Given the description of an element on the screen output the (x, y) to click on. 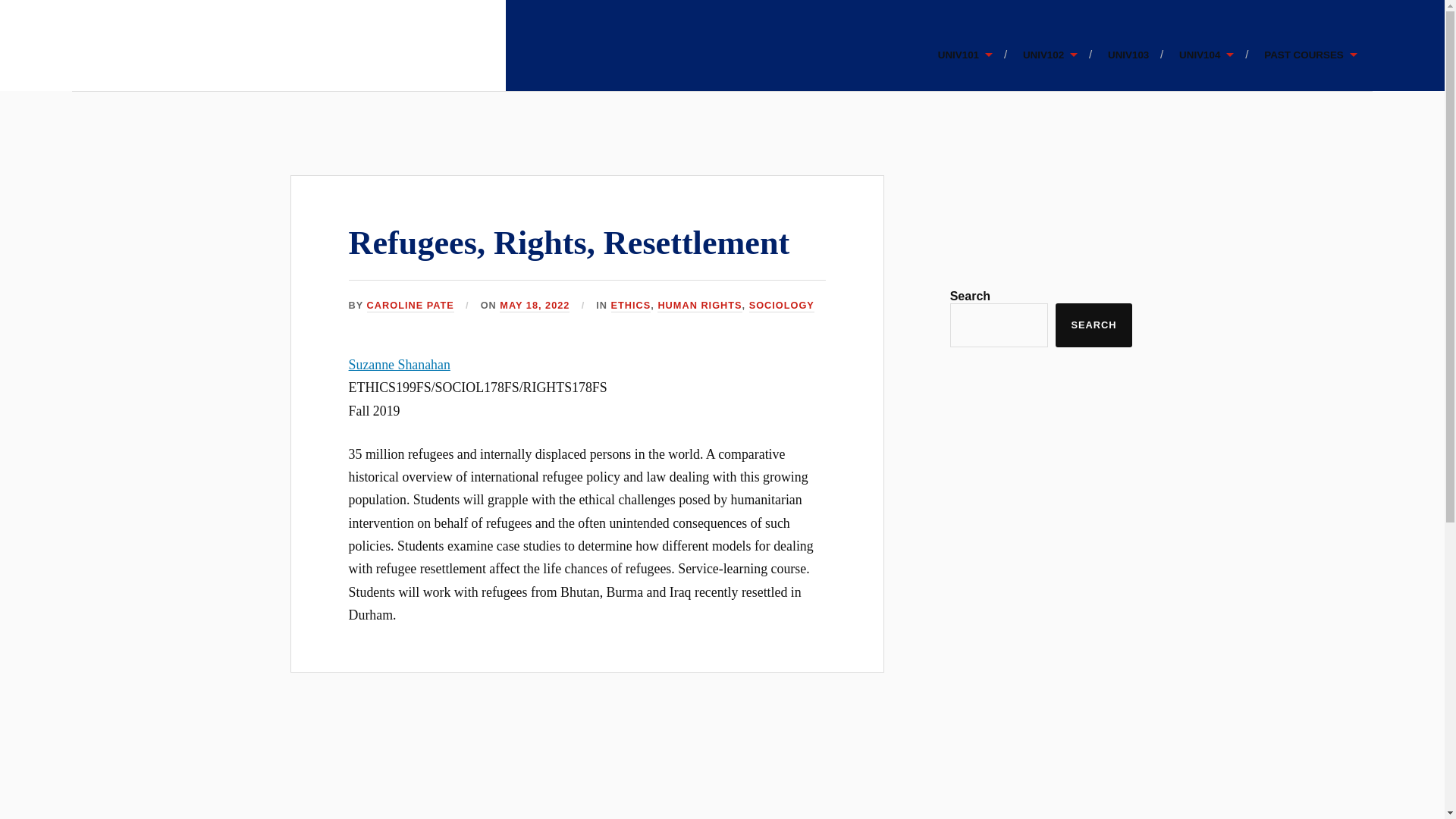
UNIVERSITY COURSES (324, 74)
UNIV101 (964, 54)
UNIV102 (1050, 54)
Posts by Caroline Pate (410, 305)
